Given the description of an element on the screen output the (x, y) to click on. 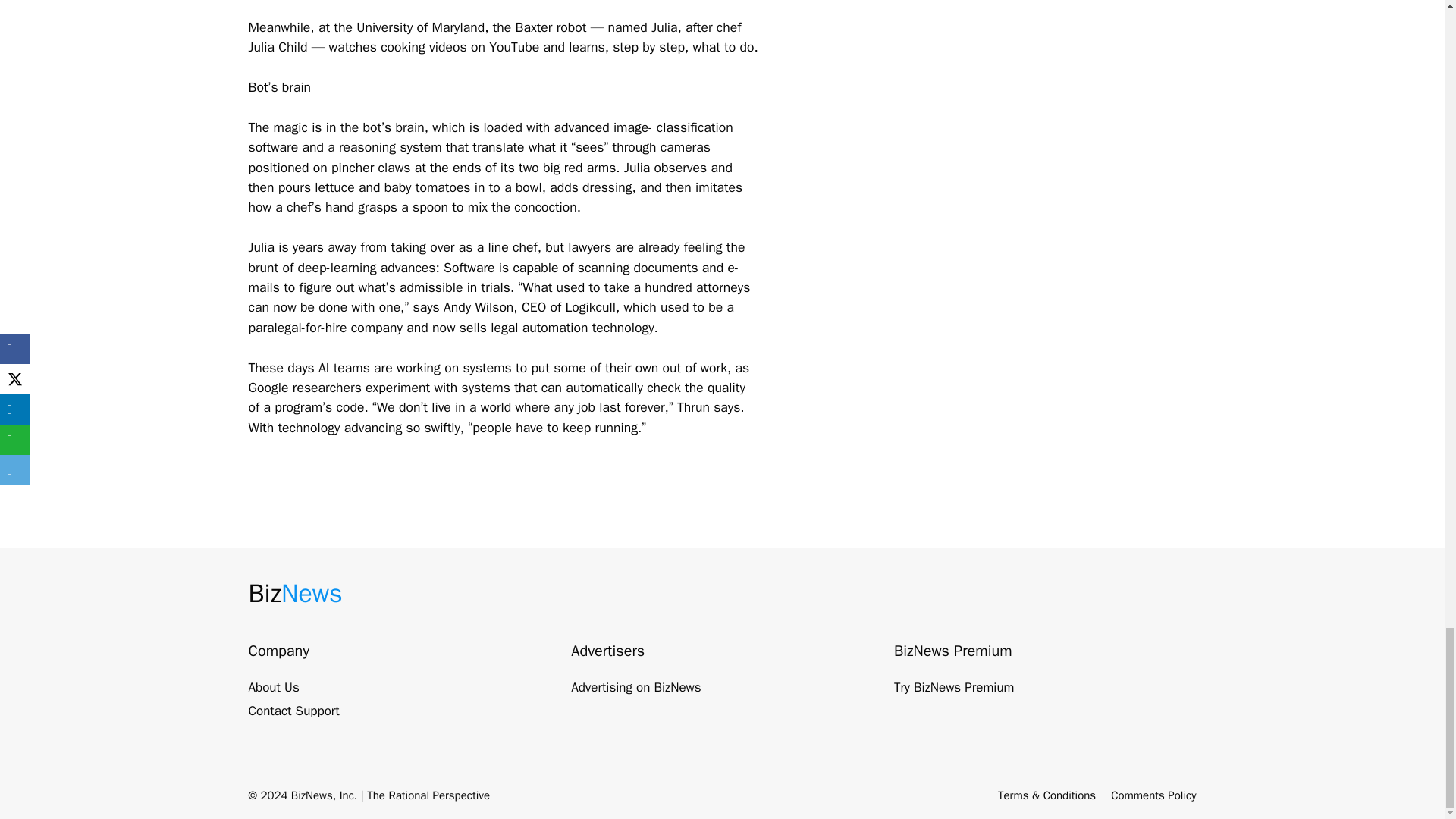
BizNews (295, 593)
